Given the description of an element on the screen output the (x, y) to click on. 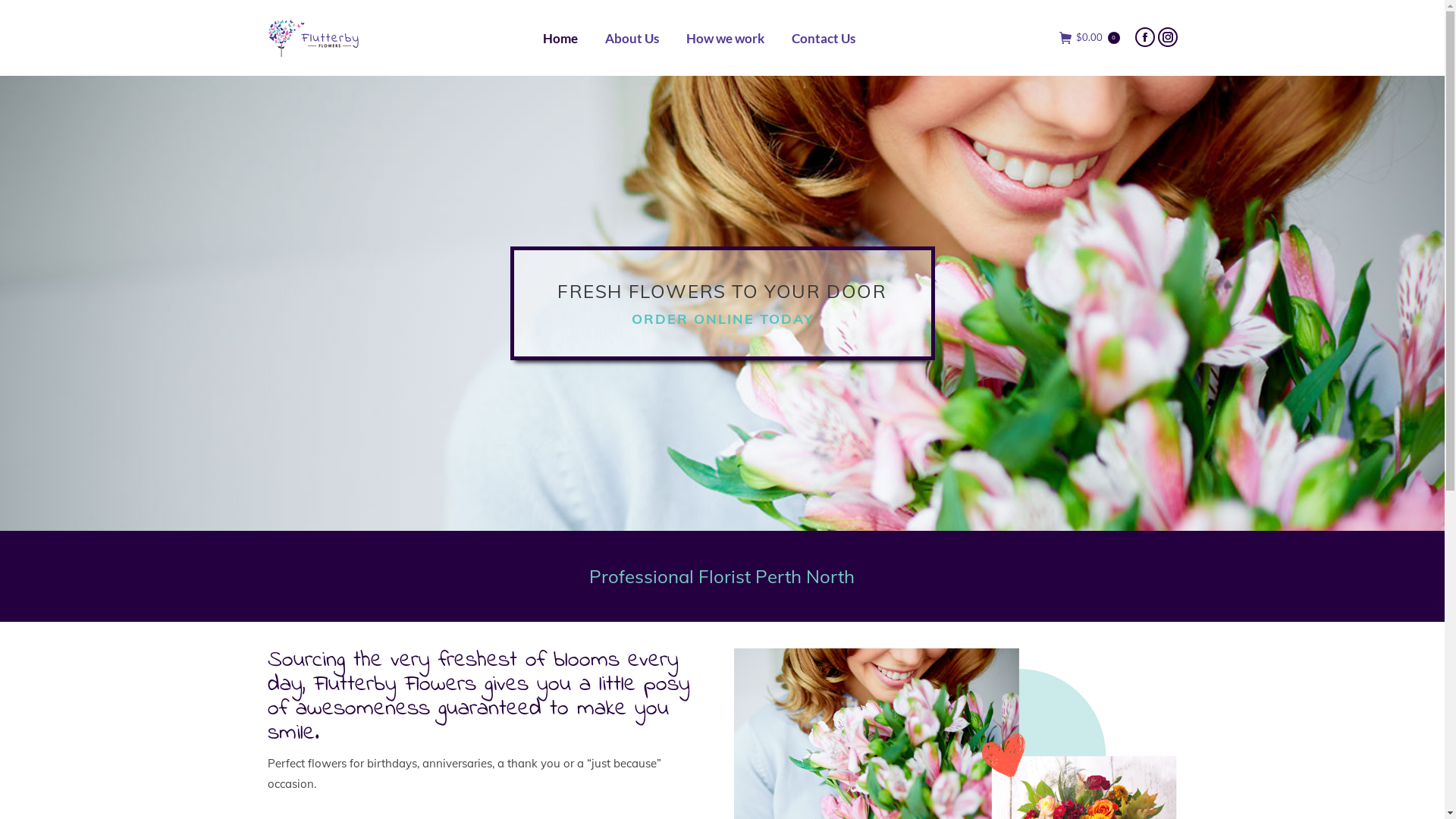
$0.000 Element type: text (1088, 37)
Terms & Conditions Element type: text (319, 665)
How we work Element type: text (725, 38)
Facebook Element type: text (1144, 37)
Privacy Policy Element type: text (305, 699)
Contact Us Element type: text (823, 38)
My account Element type: text (300, 598)
Home Element type: text (559, 38)
Checkout Element type: text (295, 632)
Instagram Element type: text (1166, 37)
About Us Element type: text (632, 38)
